Given the description of an element on the screen output the (x, y) to click on. 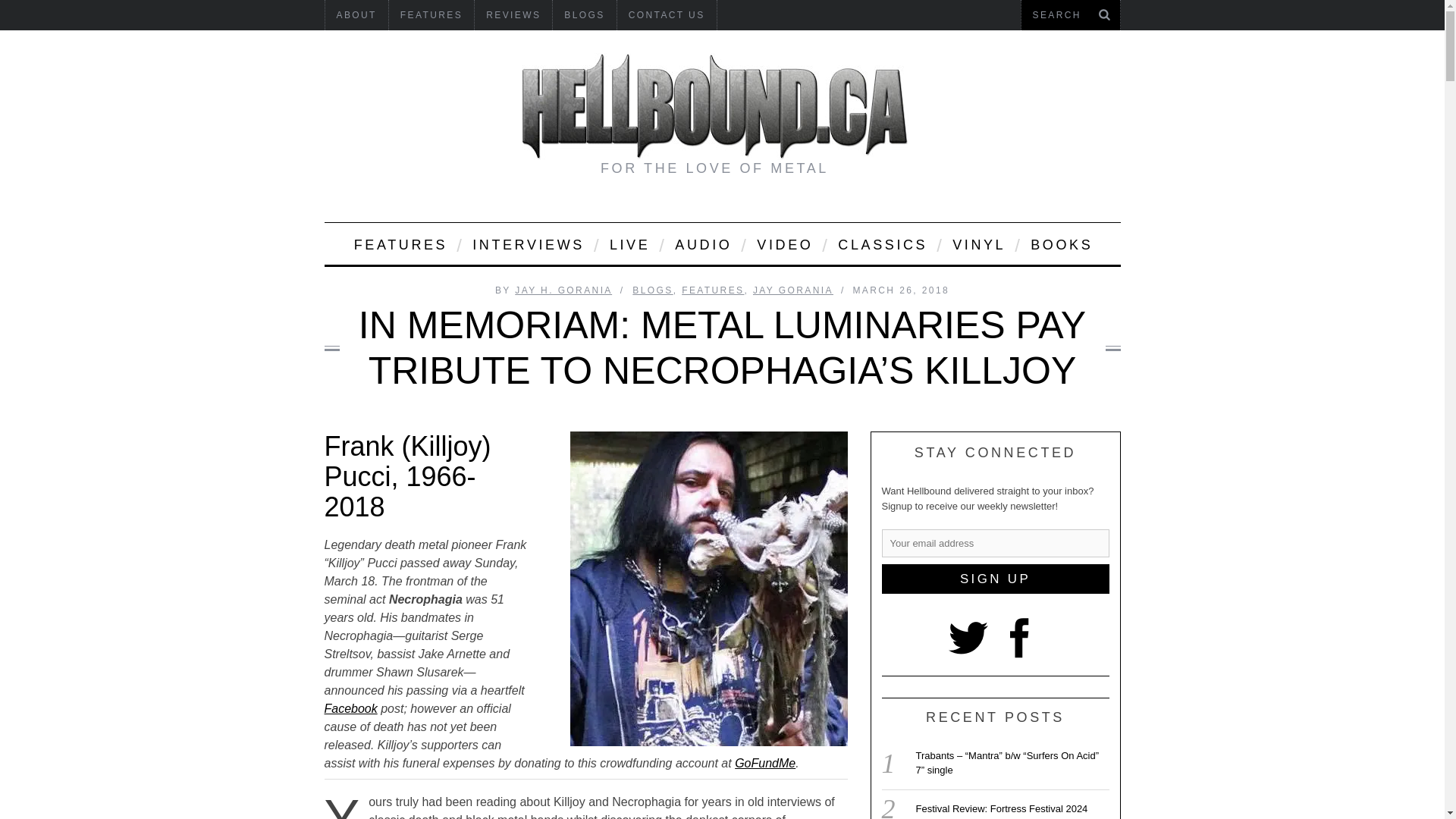
Search (1070, 15)
Posts by Jay H. Gorania (563, 290)
Sign up (994, 578)
Hellbound.ca - FOR THE LOVE OF METAL (714, 106)
